Given the description of an element on the screen output the (x, y) to click on. 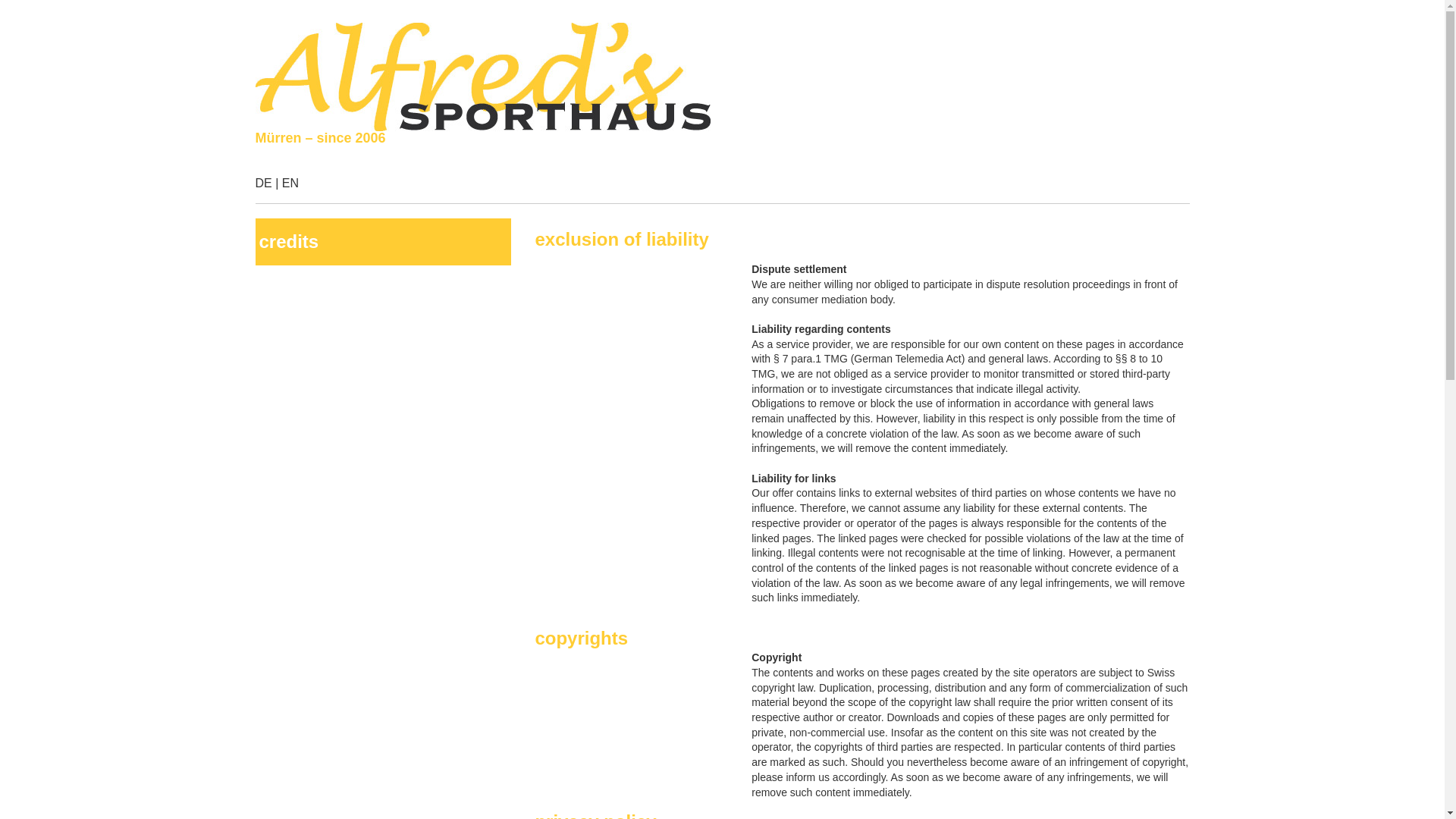
EN Element type: text (290, 182)
DE Element type: text (262, 182)
